Given the description of an element on the screen output the (x, y) to click on. 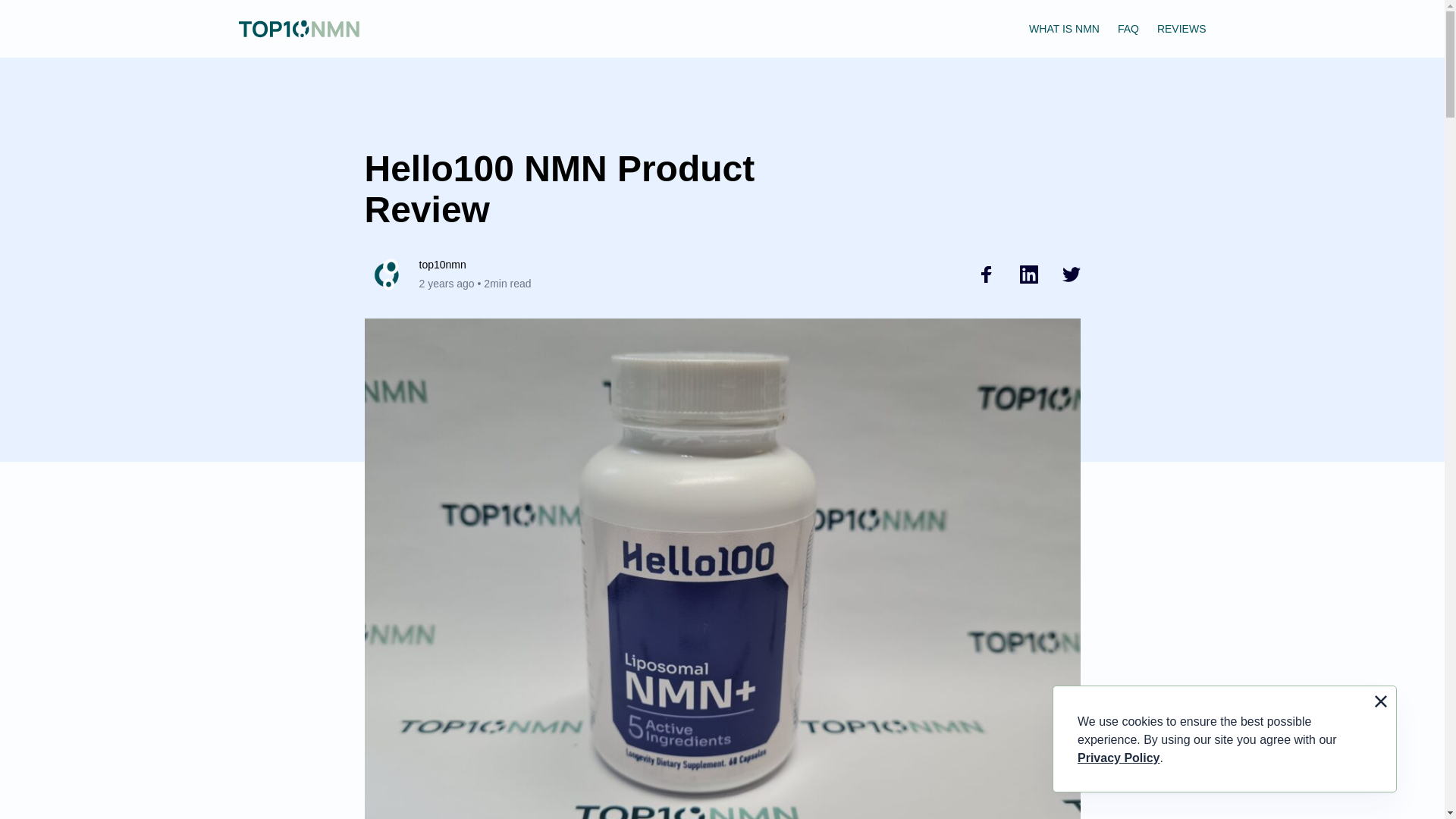
Privacy Policy (1118, 757)
REVIEWS (1182, 28)
FAQ (1128, 28)
WHAT IS NMN (1064, 28)
